Given the description of an element on the screen output the (x, y) to click on. 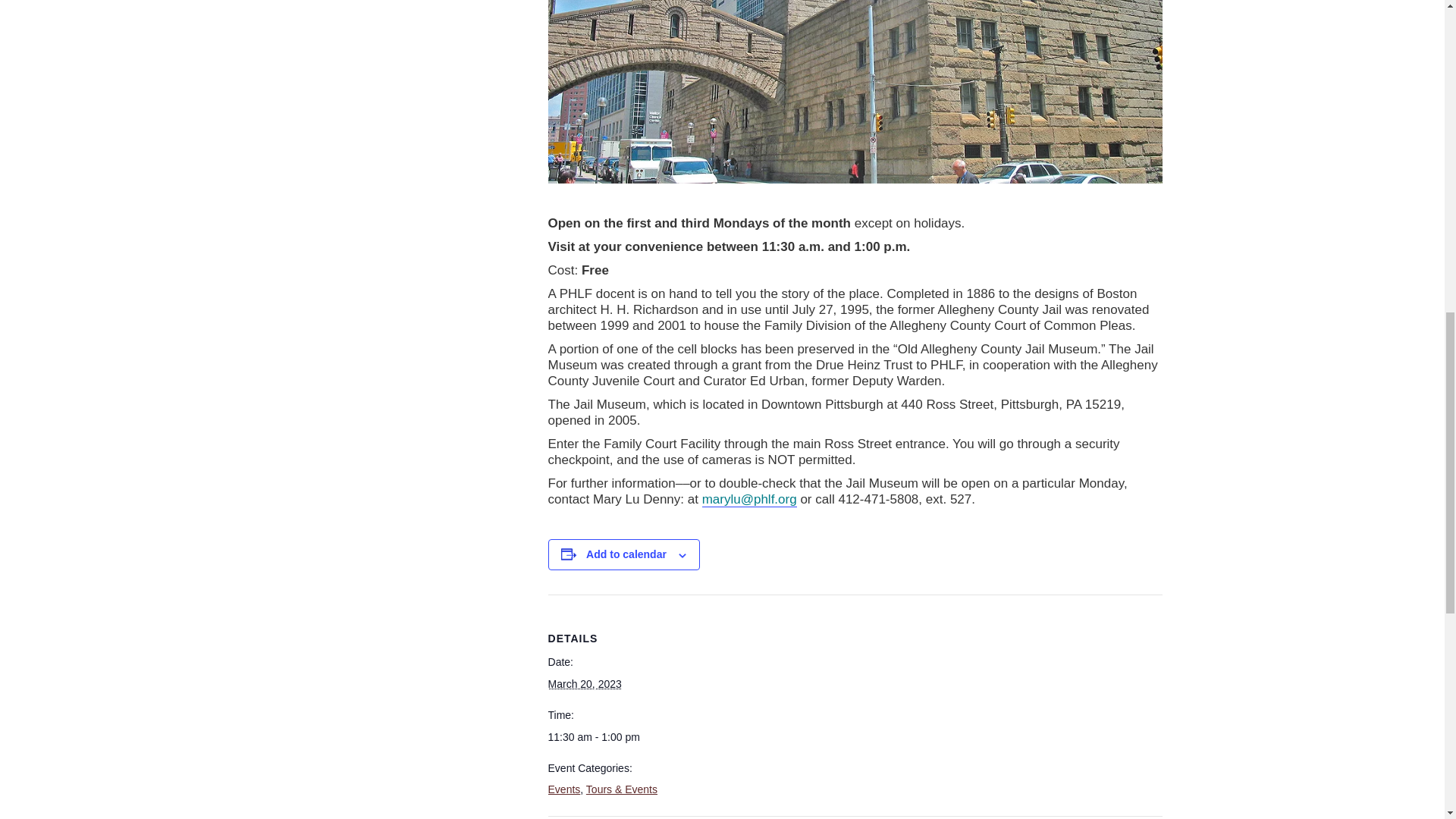
2023-03-20 (603, 737)
2023-03-20 (584, 684)
